Given the description of an element on the screen output the (x, y) to click on. 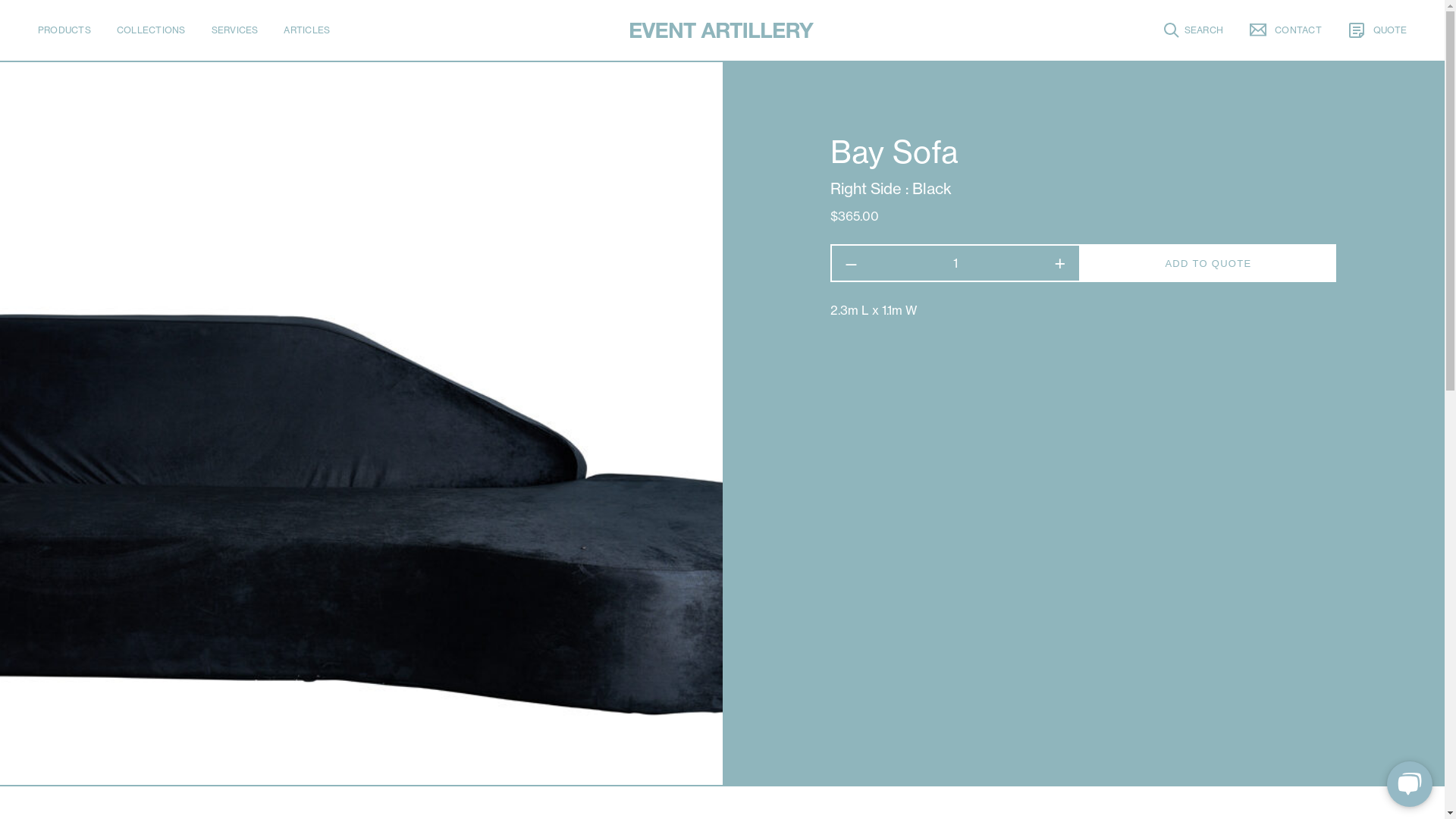
CONTACT Element type: text (1284, 30)
+ Element type: text (1060, 262)
ADD TO QUOTE Element type: text (1208, 263)
QUOTE Element type: text (1376, 30)
Event Artillery Element type: hover (722, 29)
ARTICLES Element type: text (306, 30)
